Given the description of an element on the screen output the (x, y) to click on. 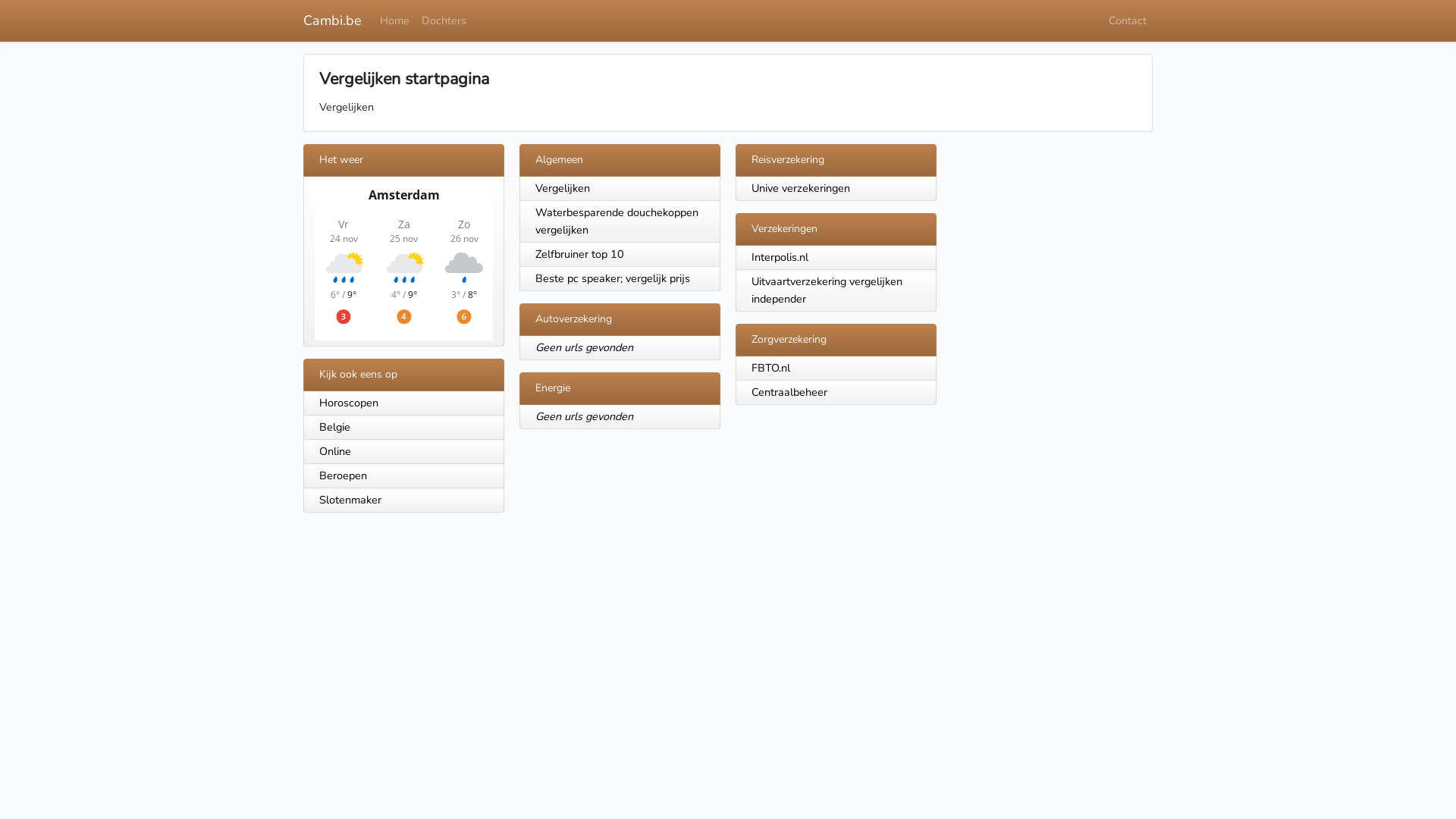
Zelfbruiner top 10 Element type: text (579, 253)
Unive verzekeringen Element type: text (800, 187)
Slotenmaker Element type: text (403, 500)
Dochters Element type: text (443, 20)
Belgie Element type: text (403, 427)
Vergelijken Element type: text (562, 187)
Centraalbeheer Element type: text (789, 391)
Contact Element type: text (1127, 20)
Beste pc speaker; vergelijk prijs Element type: text (612, 277)
Home Element type: text (394, 20)
Beroepen Element type: text (403, 476)
Waterbesparende douchekoppen vergelijken Element type: text (616, 220)
Uitvaartverzekering vergelijken independer Element type: text (826, 289)
Online Element type: text (403, 451)
Interpolis.nl Element type: text (779, 256)
FBTO.nl Element type: text (770, 367)
Horoscopen Element type: text (403, 403)
Cambi.be Element type: text (332, 20)
